Given the description of an element on the screen output the (x, y) to click on. 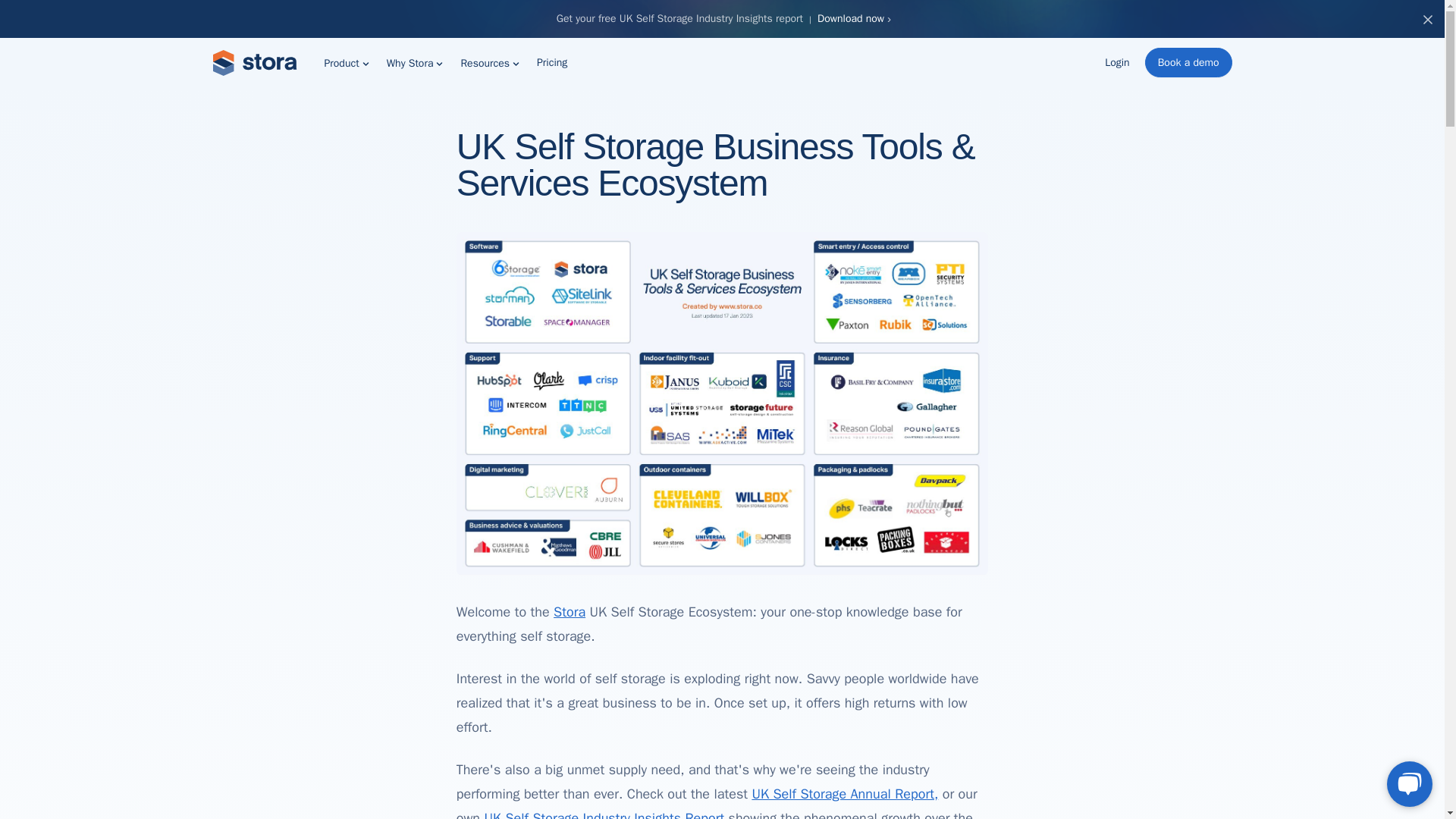
Product (347, 62)
Book a demo with Stora (1187, 61)
Login (1117, 62)
Pricing (552, 62)
UK Self Storage Annual Report (844, 793)
Book a demo (1187, 61)
Stora (254, 62)
Get your free report (852, 18)
Login to your account (1117, 62)
Go back home (569, 611)
Why Stora (416, 62)
Resources (490, 62)
Dismiss (1428, 19)
